Given the description of an element on the screen output the (x, y) to click on. 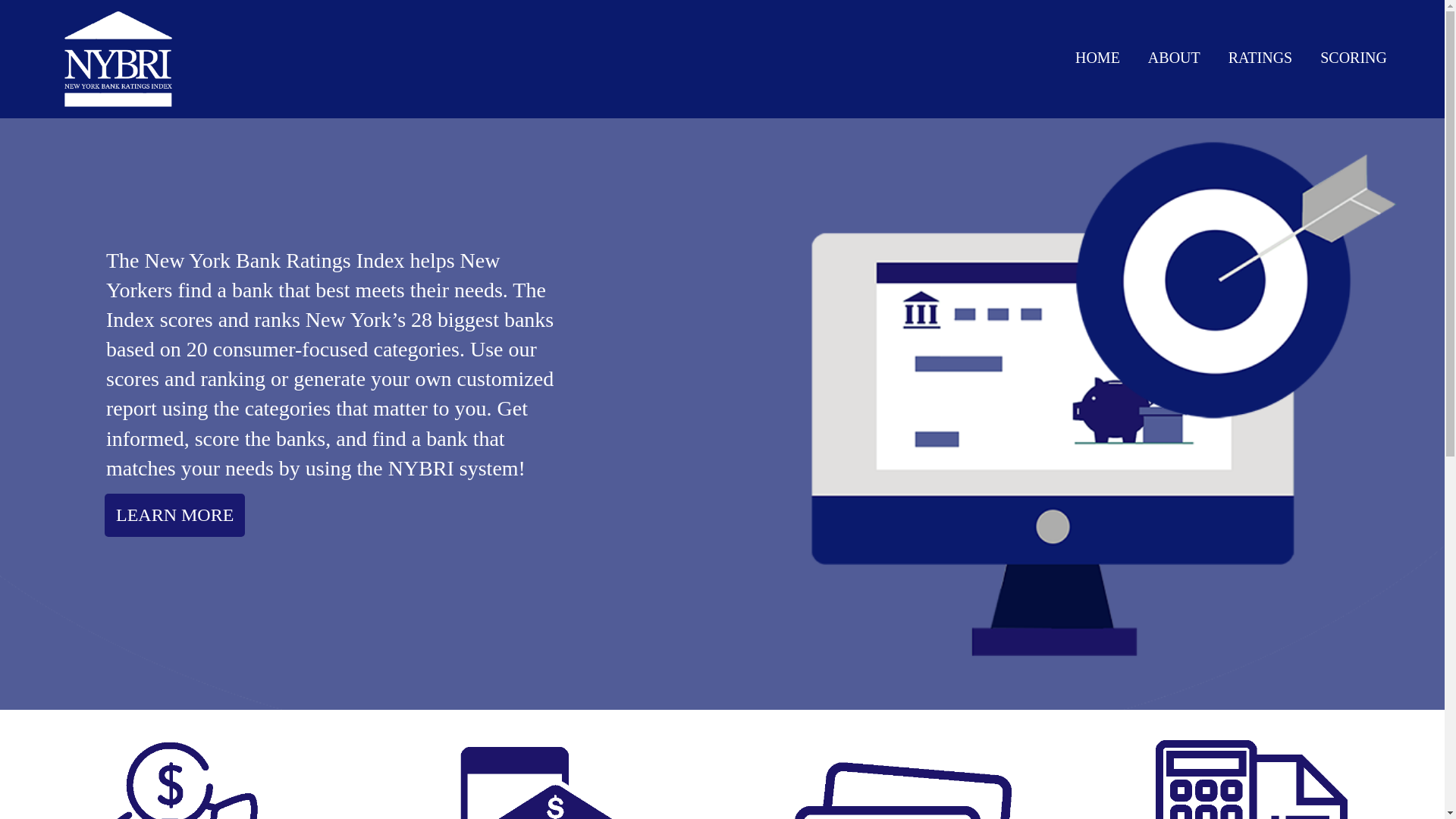
RATINGS (1259, 56)
LEARN MORE (174, 515)
ABOUT (1173, 56)
SCORING (1353, 56)
HOME (1097, 56)
